Given the description of an element on the screen output the (x, y) to click on. 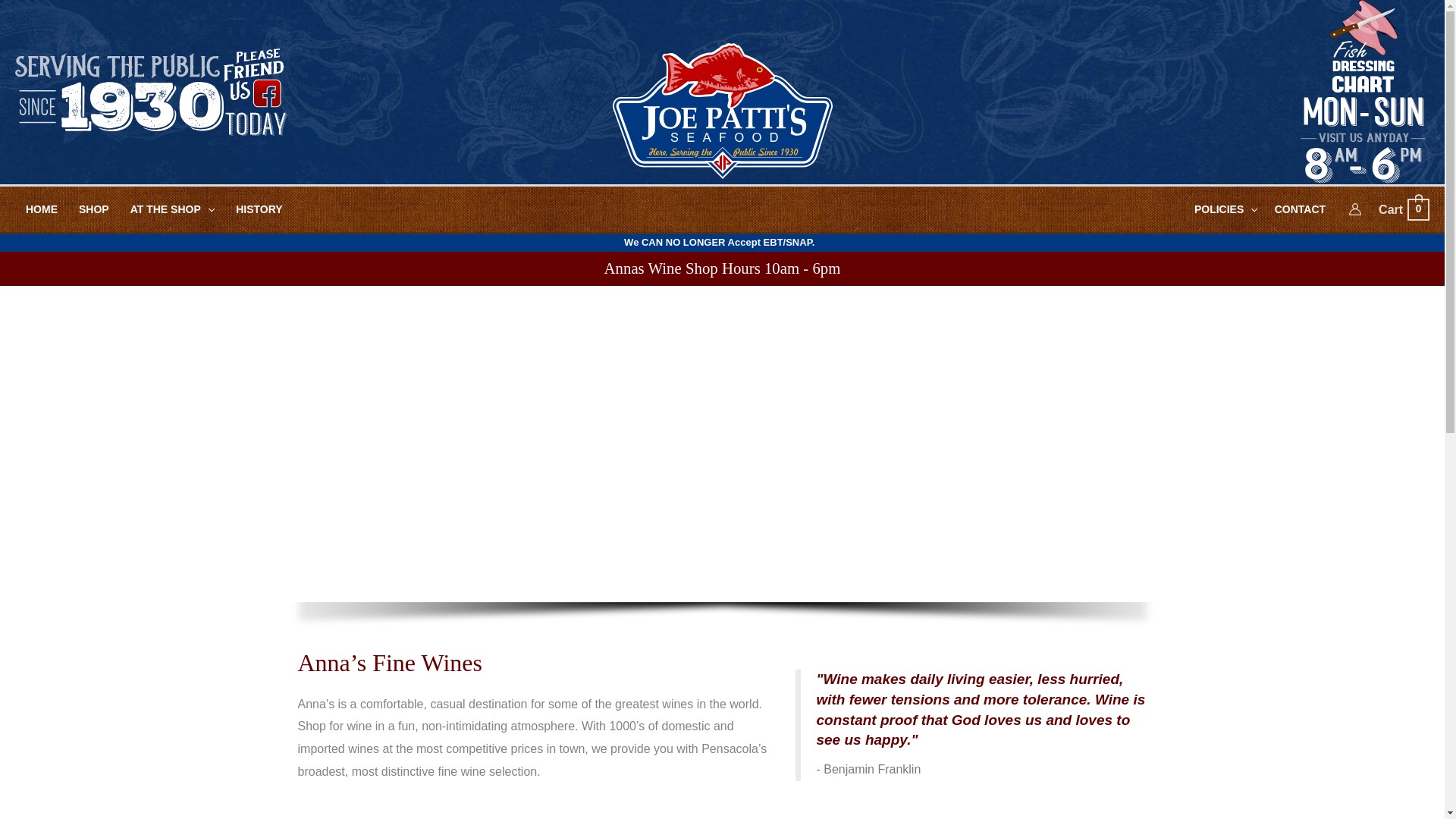
AT THE SHOP (172, 208)
CONTACT (1299, 208)
HISTORY (258, 208)
SHOP (1403, 209)
POLICIES (93, 208)
HOME (1225, 208)
